Given the description of an element on the screen output the (x, y) to click on. 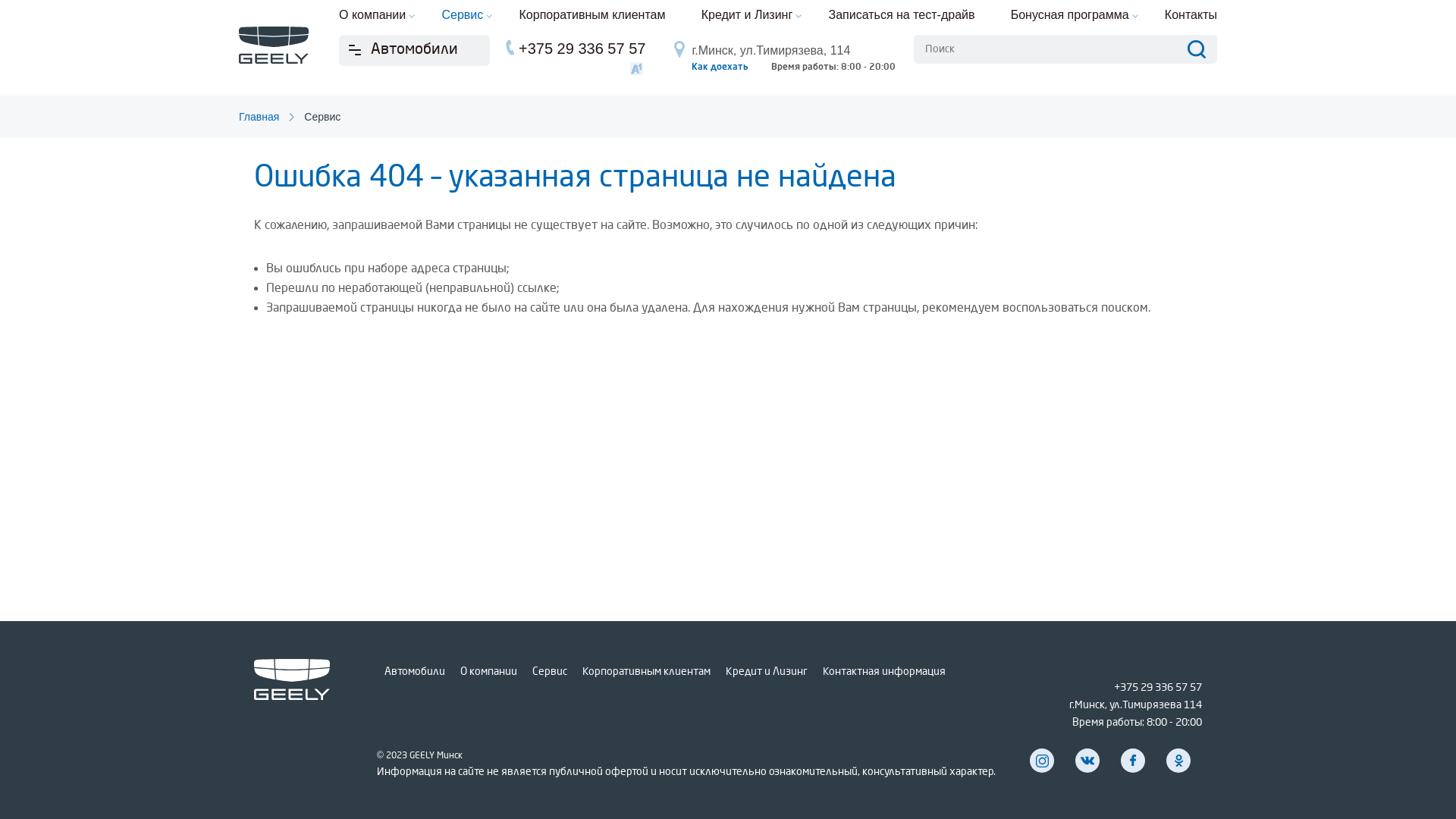
+375 29 336 57 57 Element type: text (581, 48)
+375 29 336 57 57 Element type: text (1157, 687)
